Given the description of an element on the screen output the (x, y) to click on. 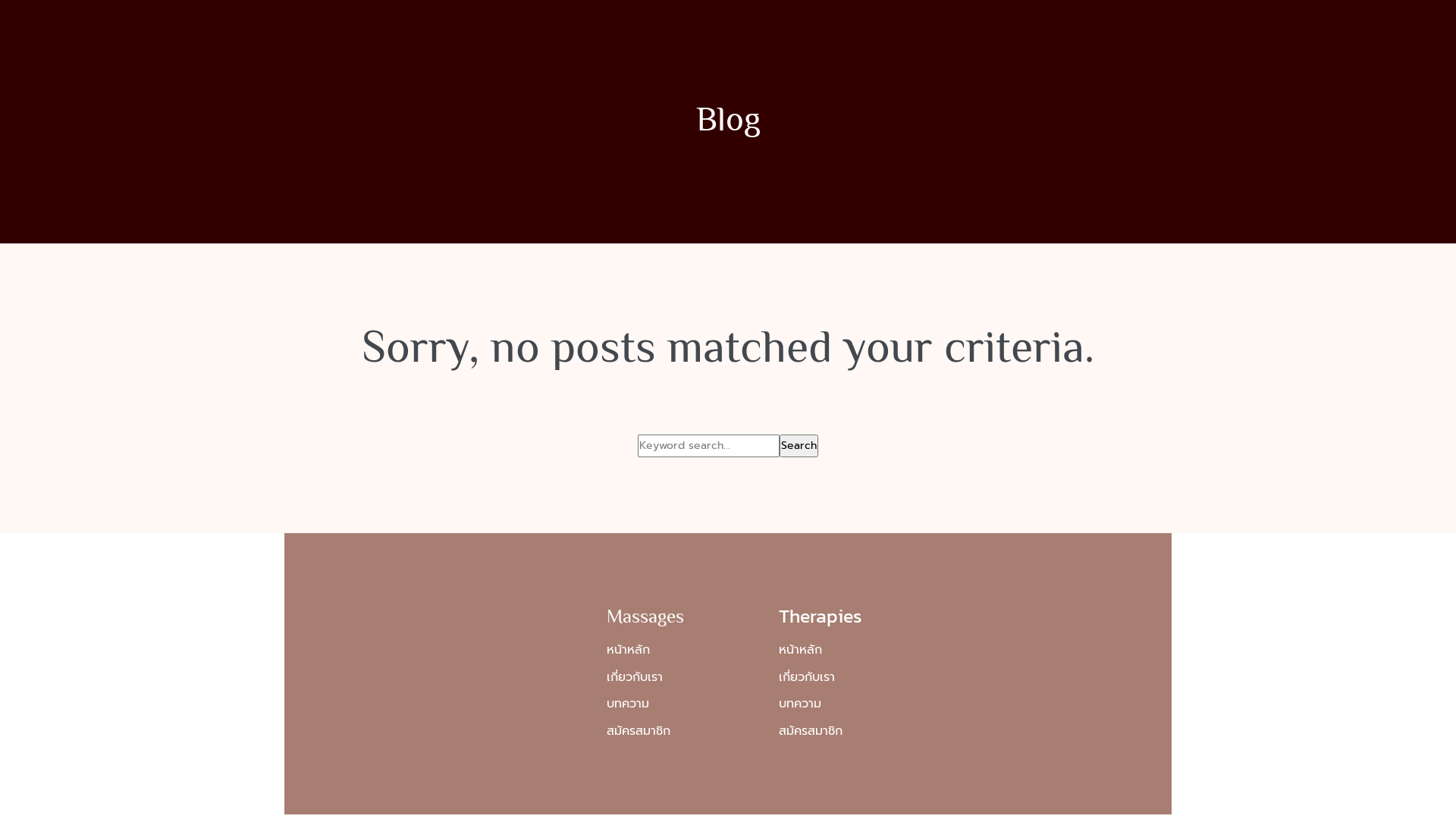
Search Element type: text (798, 445)
